Given the description of an element on the screen output the (x, y) to click on. 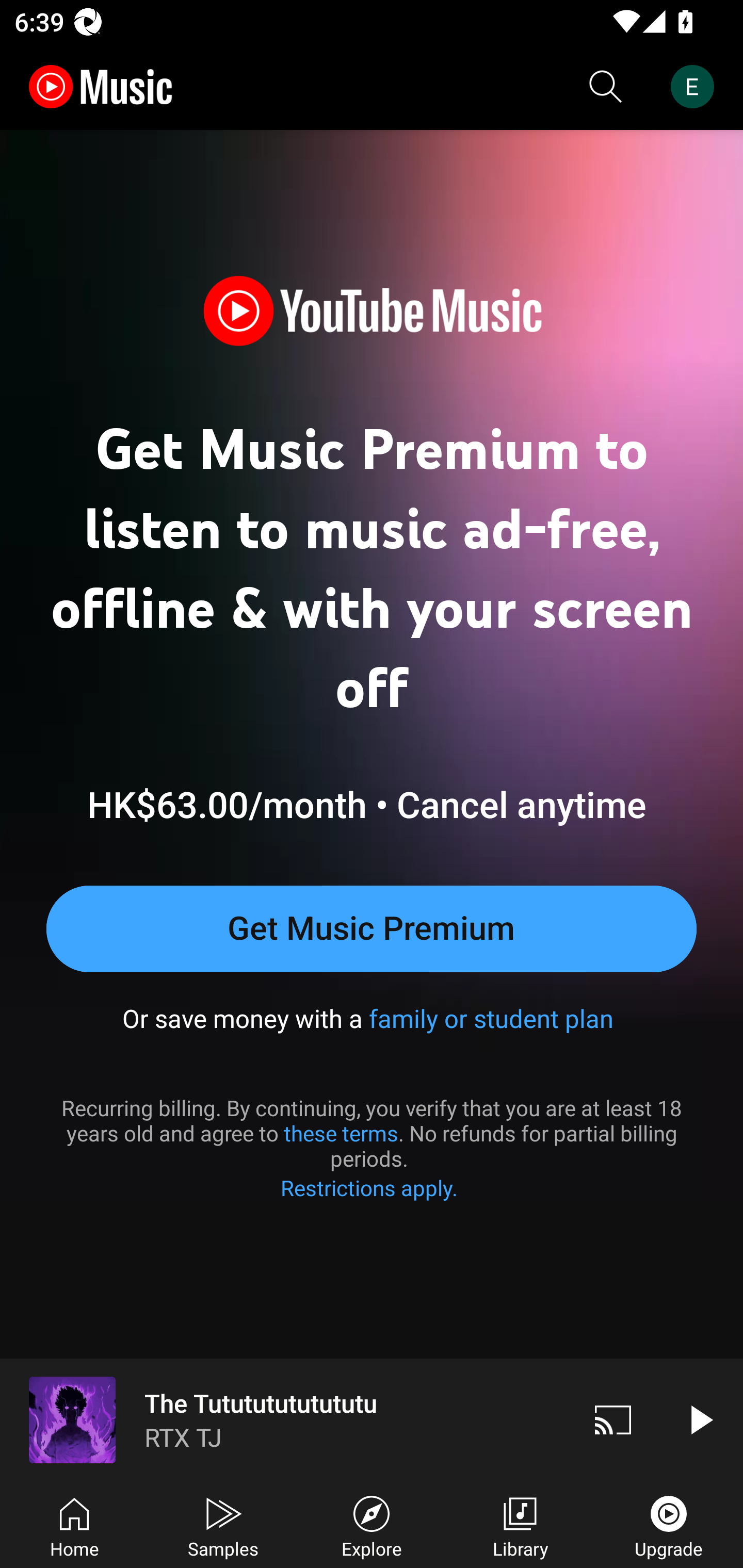
Search (605, 86)
Account (696, 86)
Get Music Premium (371, 928)
The Tutututututututu RTX TJ (284, 1419)
Cast. Disconnected (612, 1419)
Play video (699, 1419)
Home (74, 1524)
Samples (222, 1524)
Explore (371, 1524)
Library (519, 1524)
